Given the description of an element on the screen output the (x, y) to click on. 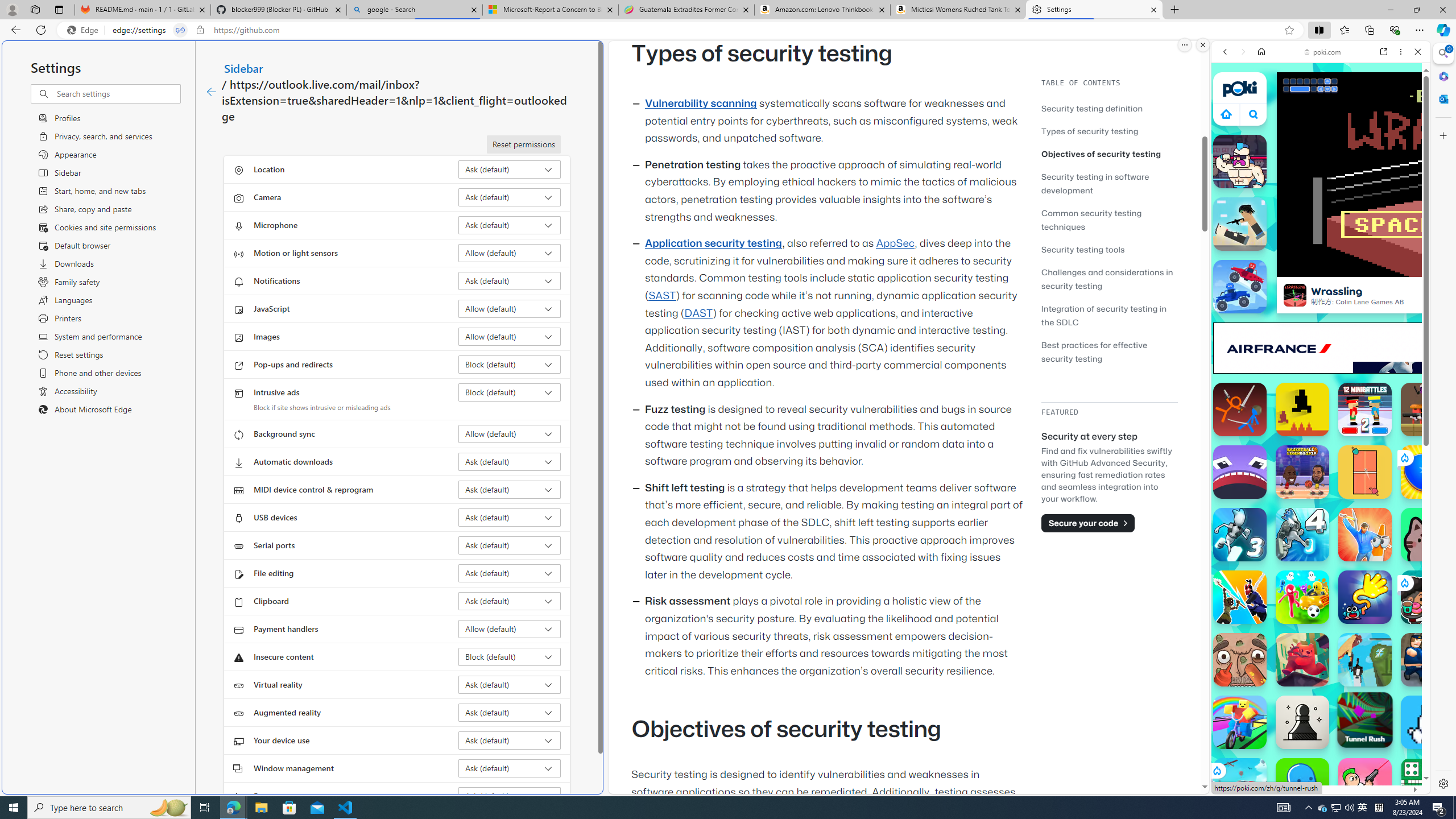
SAST (661, 295)
Security testing tools (1109, 249)
Images Allow (default) (509, 336)
Bullet Bros (1364, 784)
Ping Pong Go! (1427, 471)
Basketball Legends 2020 (1302, 471)
Show More Shooting Games (1390, 296)
Best practices for effective security testing (1094, 351)
Car Games (1320, 267)
Class: aprWdaSScyiJf4Jvmsx9 (1225, 113)
Objectives of security testing (1109, 153)
Ludo Multiplayer Ludo Multiplayer (1427, 784)
Search results from poki.com (1299, 443)
